Given the description of an element on the screen output the (x, y) to click on. 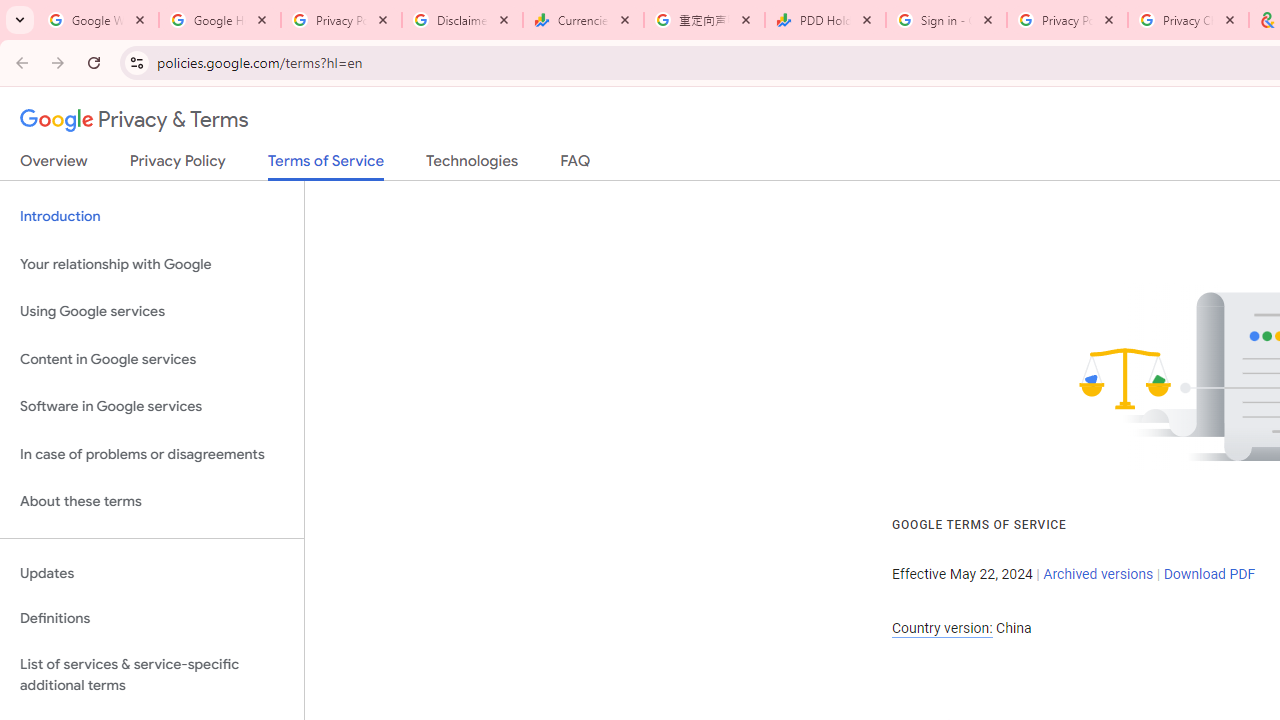
Using Google services (152, 312)
Your relationship with Google (152, 263)
Privacy Checkup (1188, 20)
Country version: (942, 628)
Software in Google services (152, 407)
List of services & service-specific additional terms (152, 674)
In case of problems or disagreements (152, 453)
Introduction (152, 216)
